Given the description of an element on the screen output the (x, y) to click on. 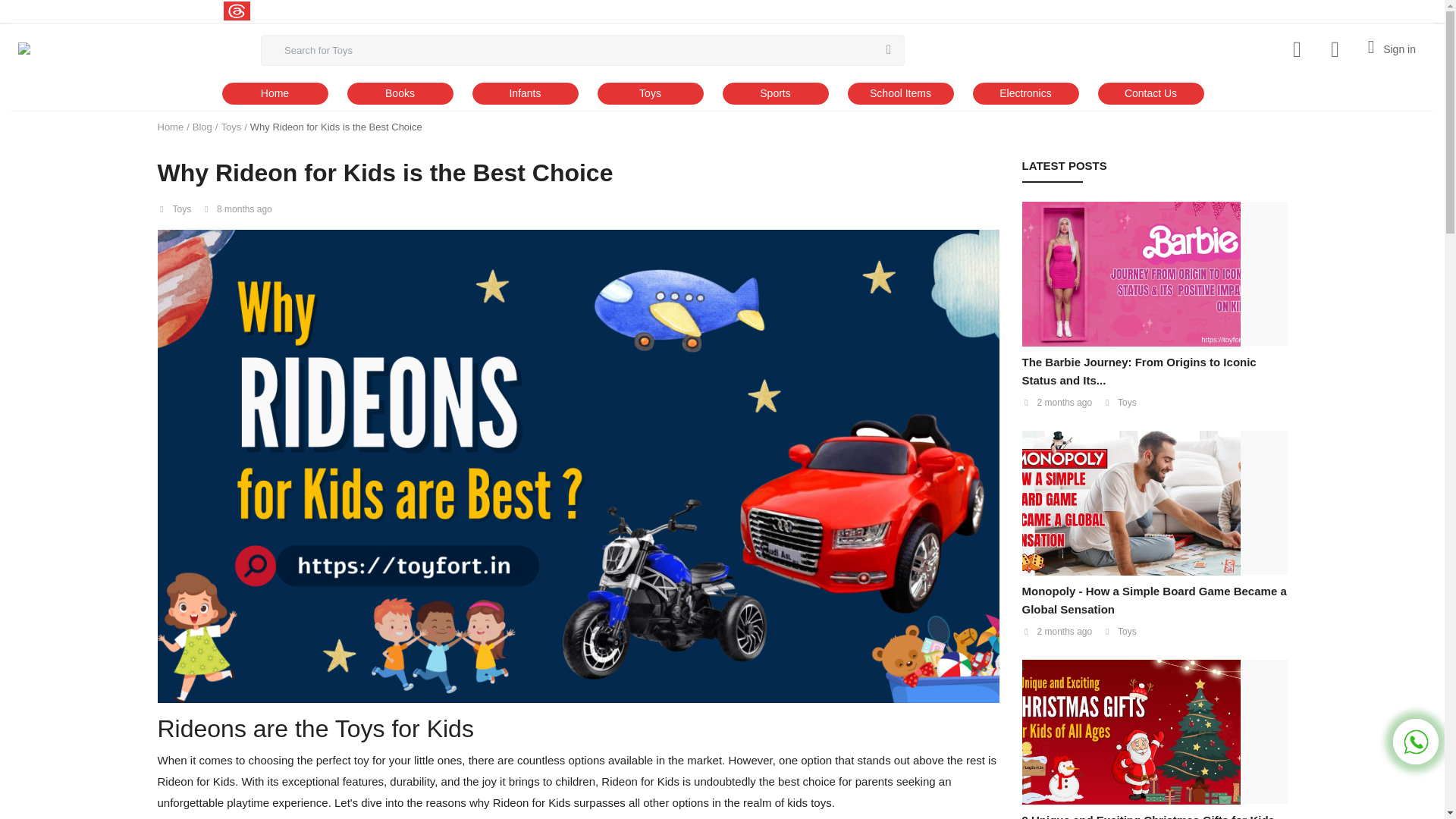
Sign in (1388, 46)
Books (399, 93)
Infants (524, 93)
Home (274, 93)
